Given the description of an element on the screen output the (x, y) to click on. 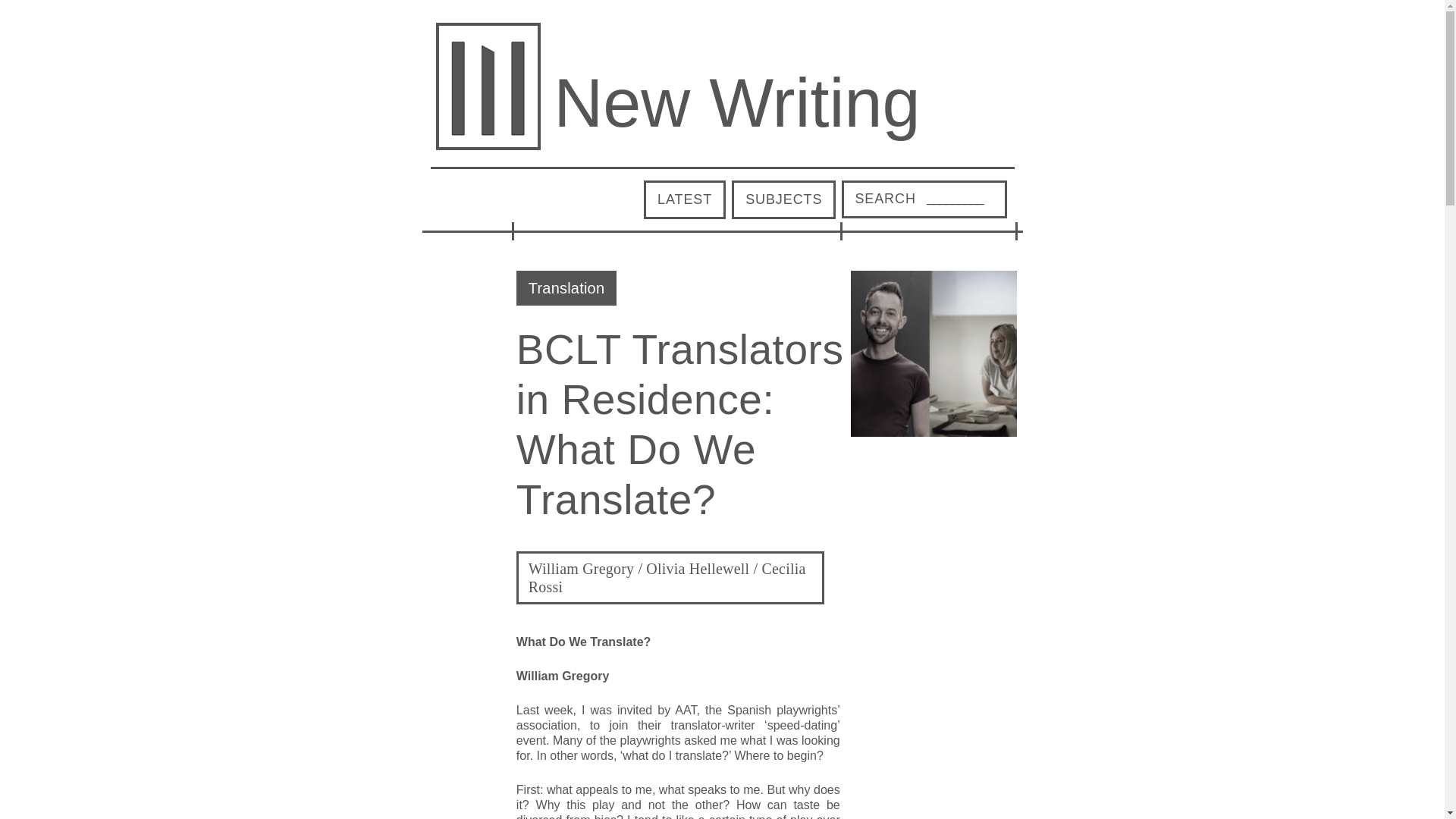
New Writing (736, 102)
Translation (566, 287)
Search (885, 199)
Search (885, 199)
SUBJECTS (783, 199)
LATEST (684, 199)
